Given the description of an element on the screen output the (x, y) to click on. 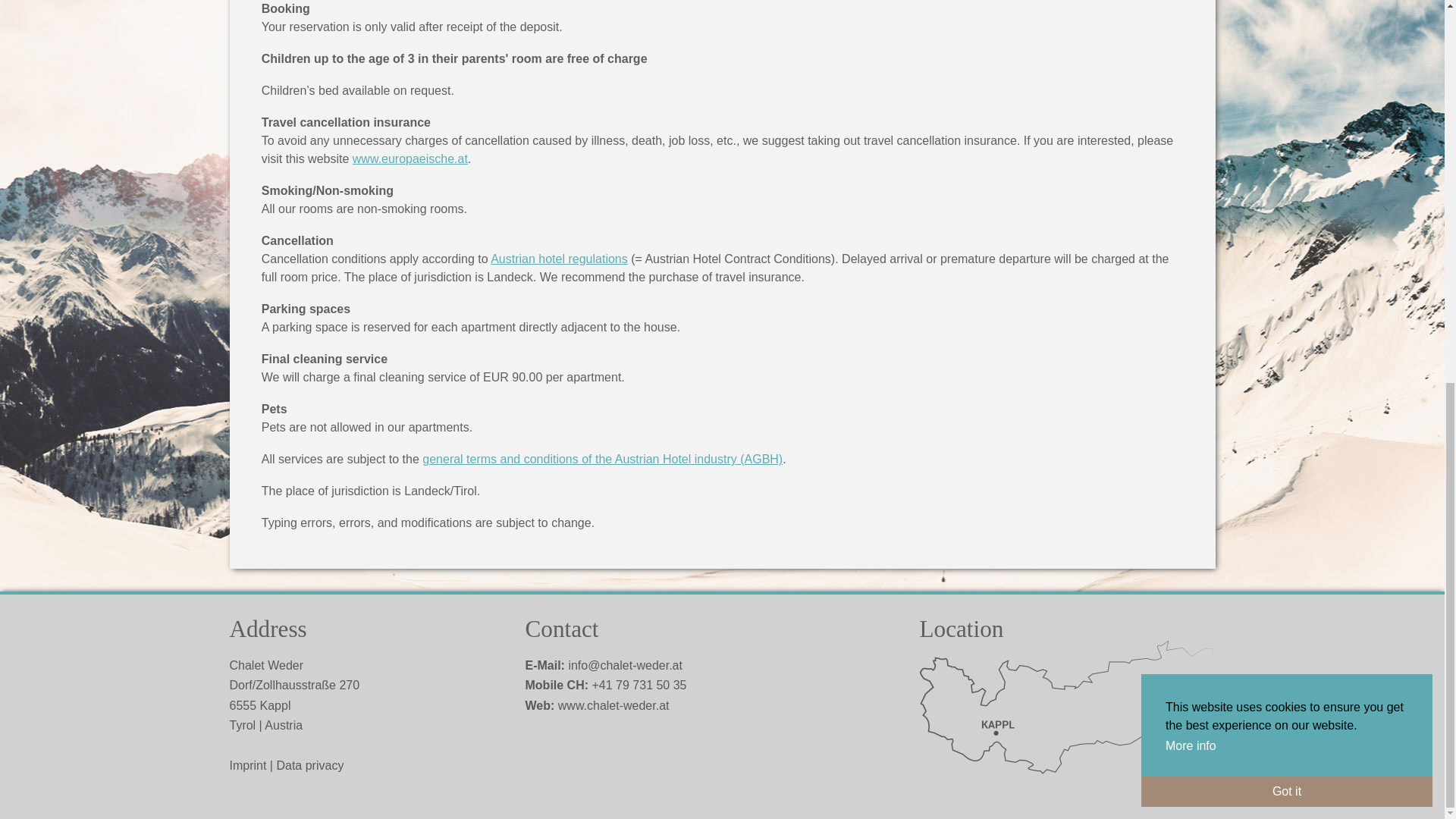
Phone (638, 684)
Location (1066, 715)
E-Mail (624, 665)
Imprint (247, 765)
Data privacy (309, 765)
www.chalet-weder.at (613, 705)
Chalet Weder (613, 705)
www.europaeische.at (409, 158)
Got it (1286, 74)
Austrian hotel regulations (558, 258)
Location (1066, 785)
Data privacy (309, 765)
Imprint (247, 765)
More info (1192, 29)
